Given the description of an element on the screen output the (x, y) to click on. 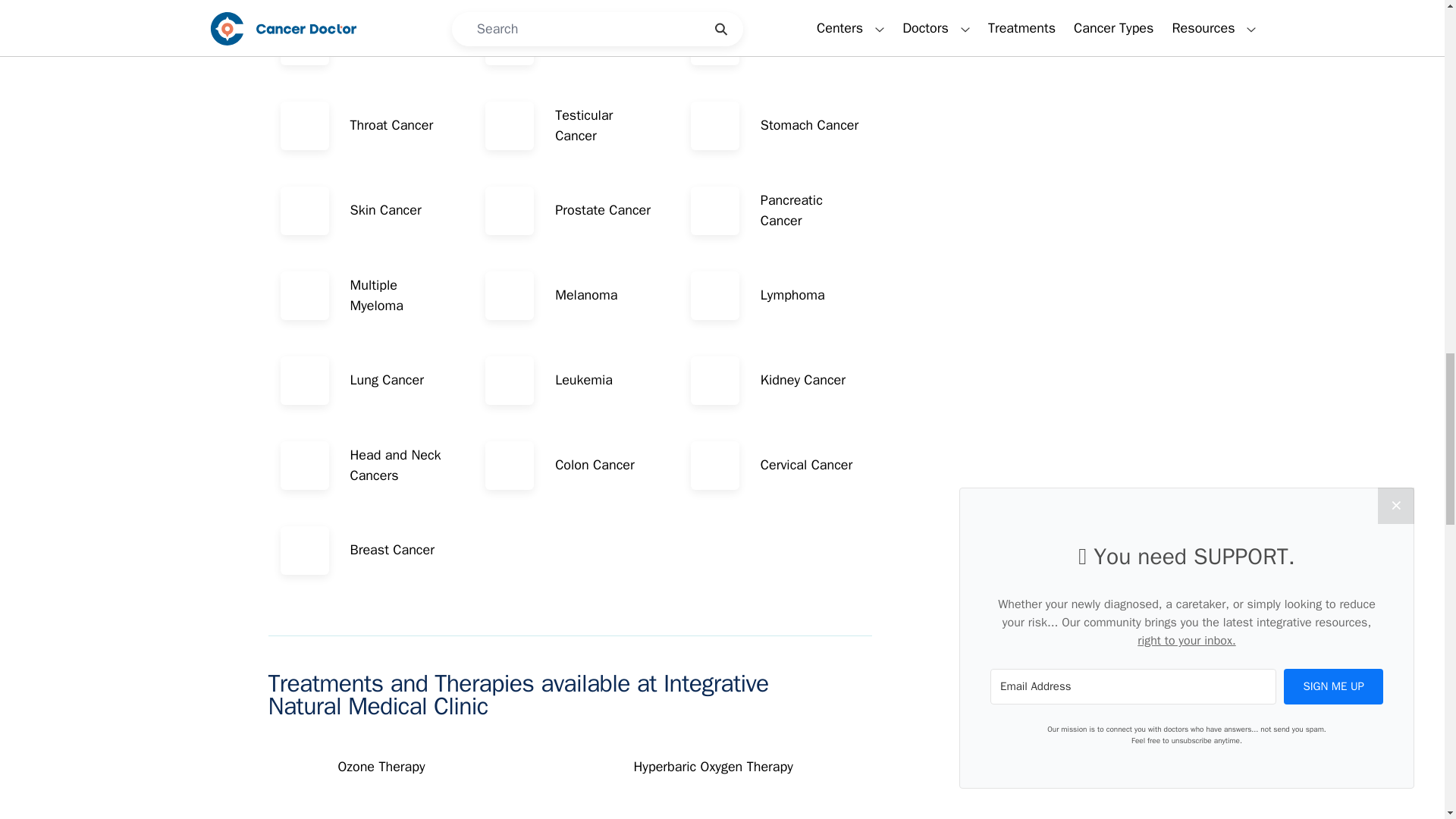
Stomach Cancer (775, 125)
Anal Cancer (365, 40)
Leukemia (568, 380)
Multiple Myeloma (365, 295)
Thyroid Cancer (775, 40)
Head and Neck Cancers (365, 465)
Throat Cancer (365, 125)
Pancreatic Cancer (775, 210)
Lymphoma (775, 295)
Skin Cancer (365, 210)
Uterine Cancer (568, 40)
Prostate Cancer (568, 210)
Colon Cancer (568, 465)
Testicular Cancer (568, 125)
Kidney Cancer (775, 380)
